Given the description of an element on the screen output the (x, y) to click on. 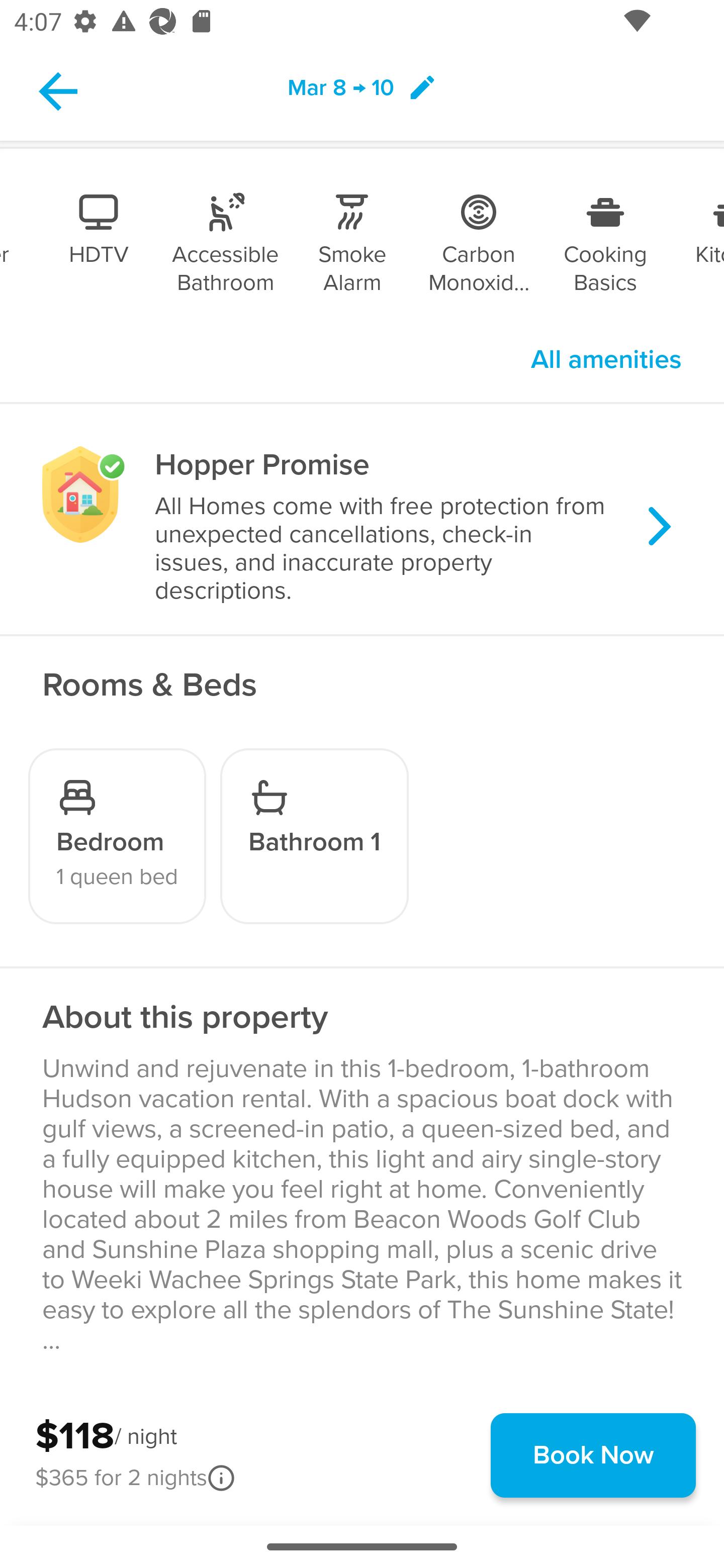
Mar 8 → 10 (361, 90)
All amenities (606, 359)
Book Now (592, 1454)
